Given the description of an element on the screen output the (x, y) to click on. 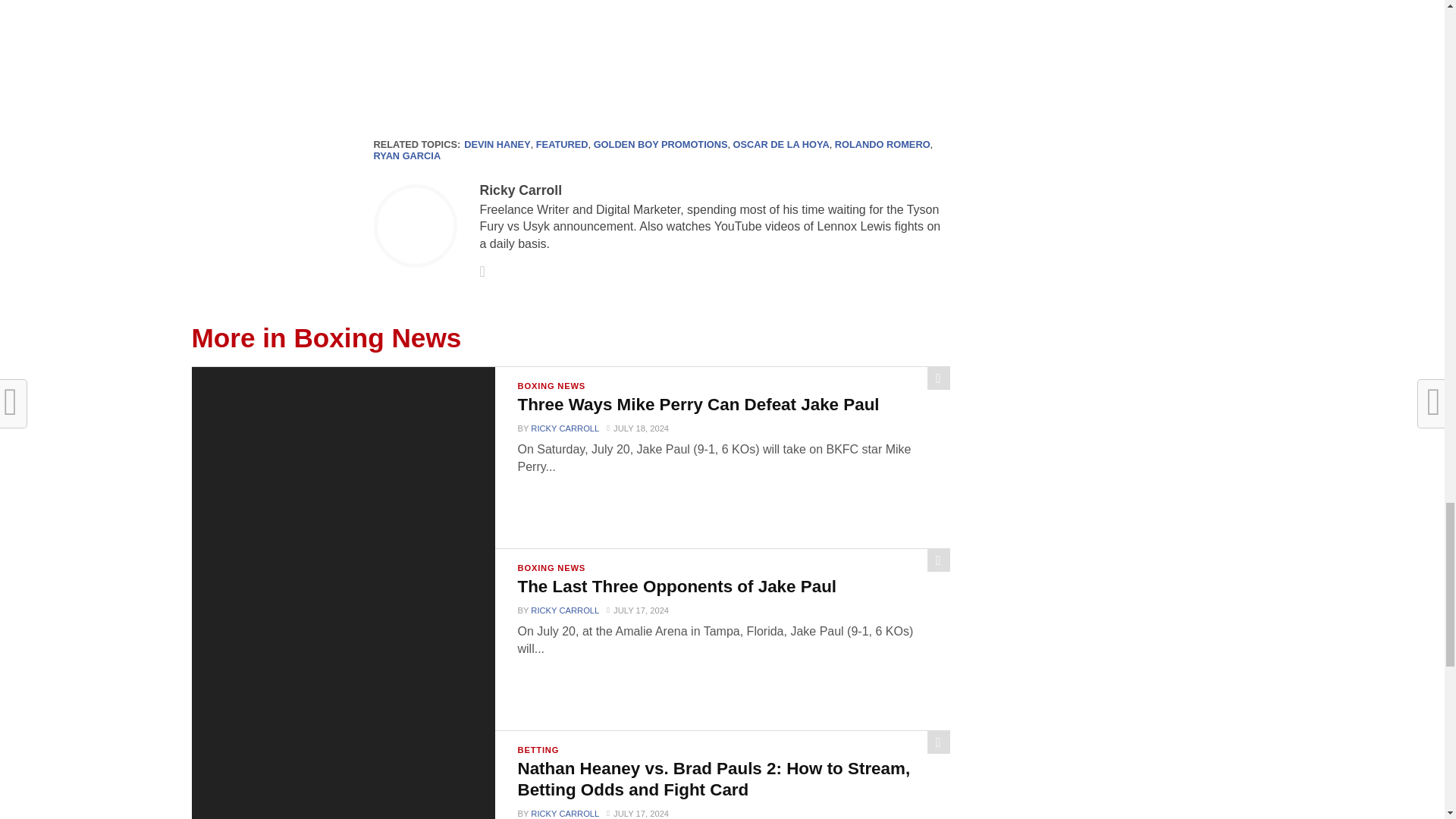
Posts by Ricky Carroll (564, 610)
Posts by Ricky Carroll (564, 428)
Posts by Ricky Carroll (520, 190)
